Given the description of an element on the screen output the (x, y) to click on. 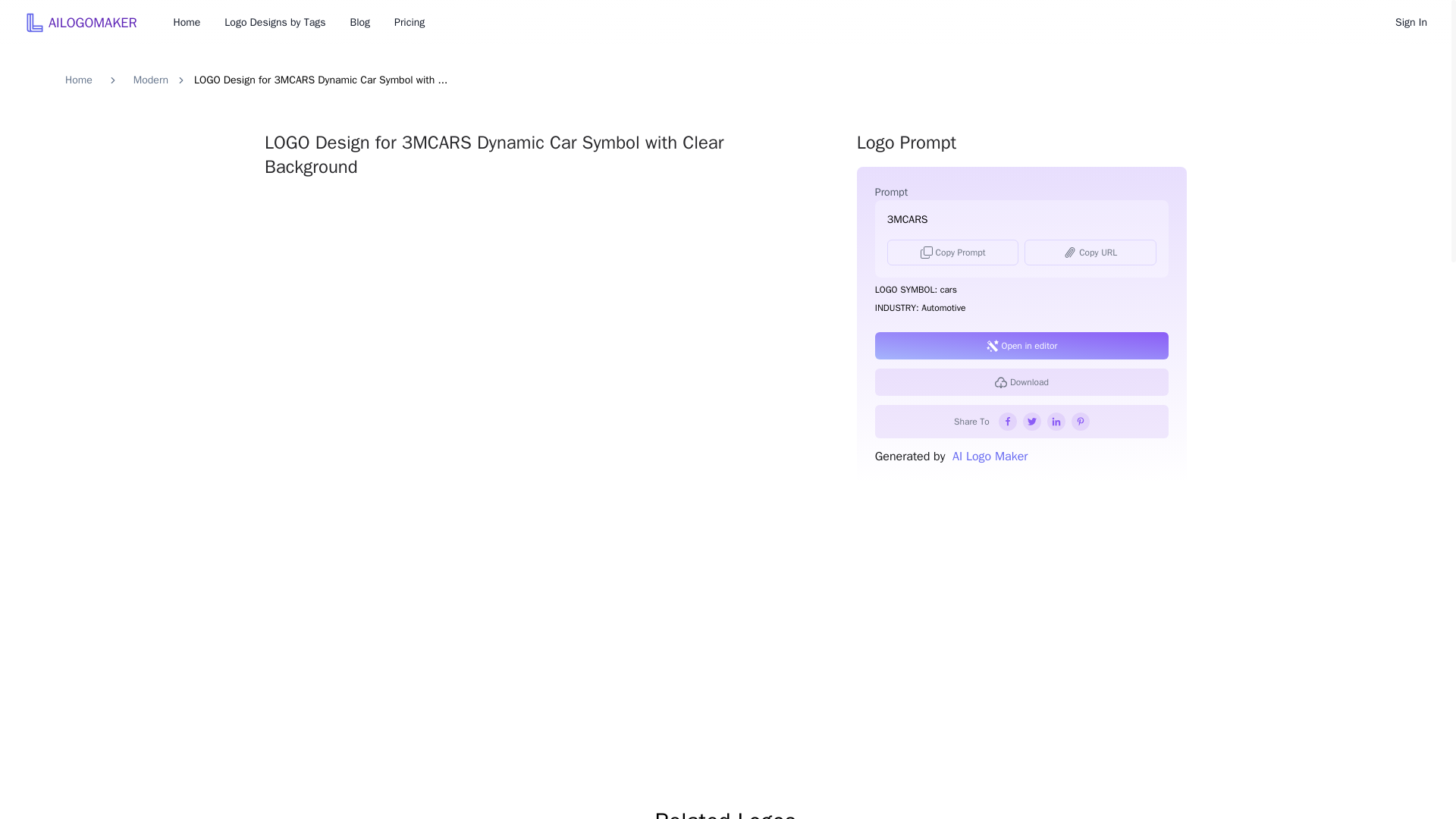
Pricing (409, 22)
Blog (359, 22)
Copy Prompt (952, 252)
Sign In (1410, 22)
AILOGOMAKER (80, 22)
Home (186, 22)
  AI Logo Maker (985, 456)
Copy URL (1090, 252)
Home (79, 79)
Modern (150, 79)
